Given the description of an element on the screen output the (x, y) to click on. 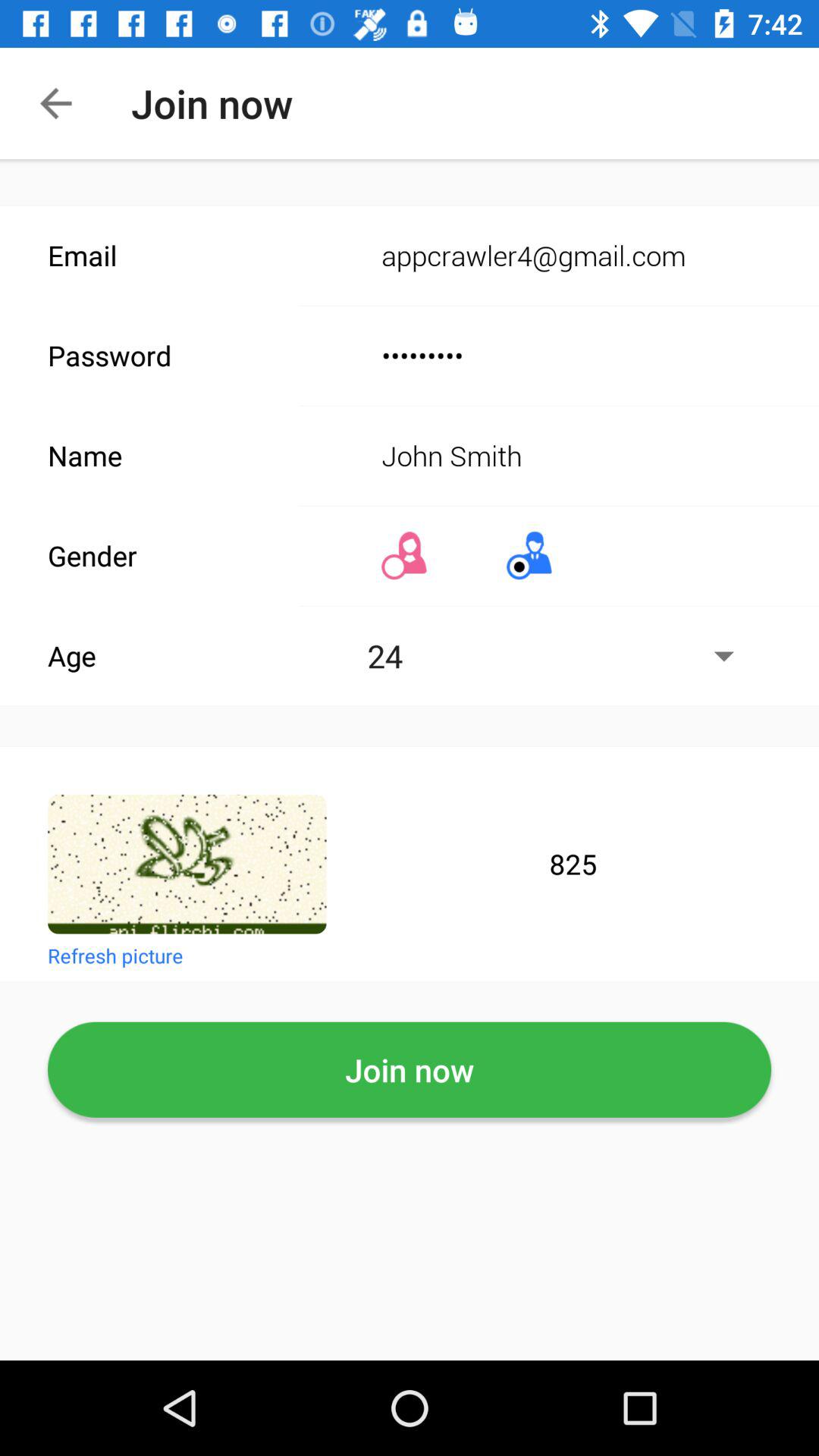
click on 825 text (572, 863)
select the text which is next to the name (562, 455)
select the text which is next to the email (562, 255)
